Given the description of an element on the screen output the (x, y) to click on. 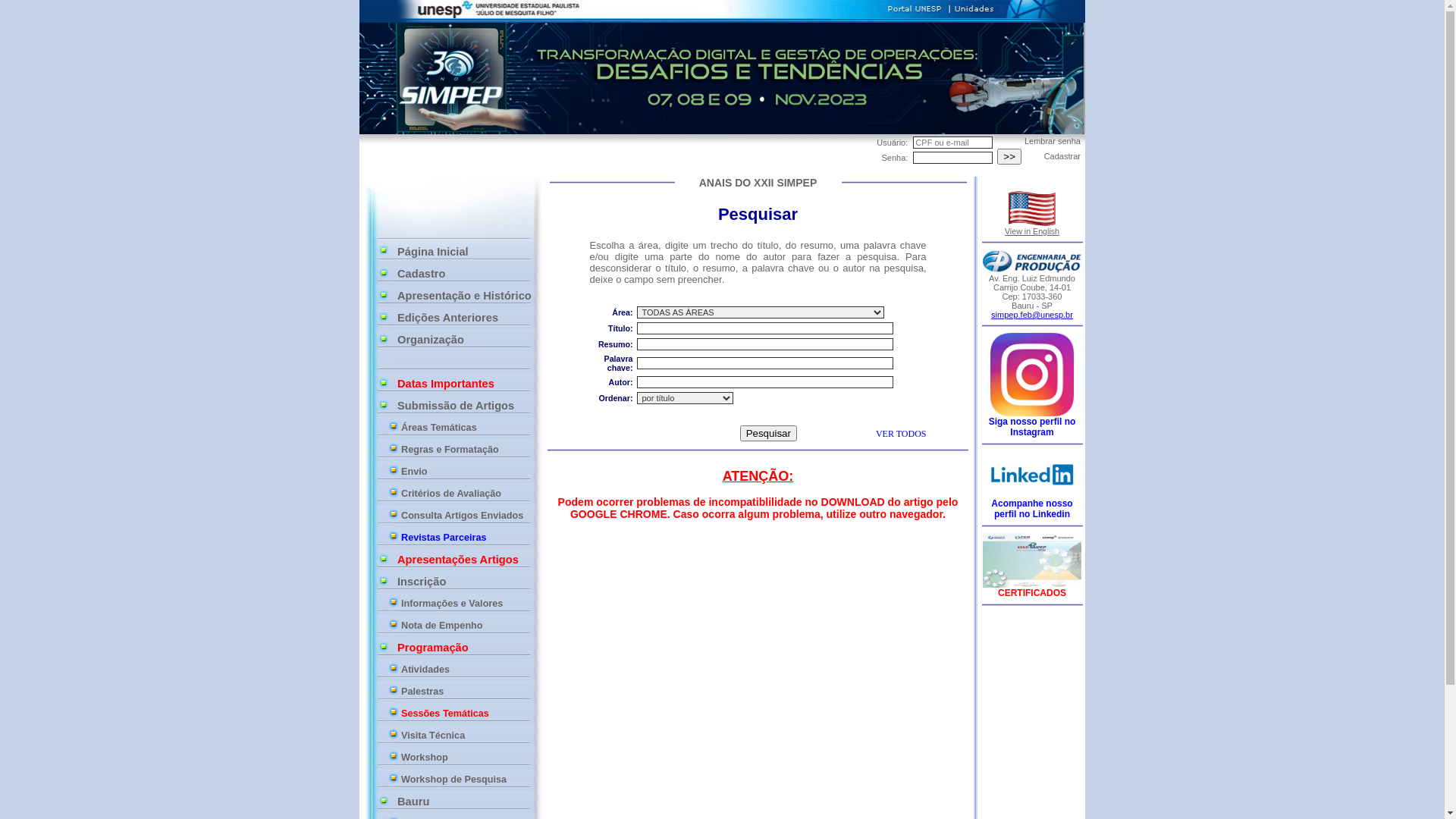
Atividades Element type: text (463, 669)
Palestras Element type: text (463, 691)
Datas Importantes Element type: text (465, 383)
Workshop Element type: text (463, 757)
Workshop de Pesquisa Element type: text (463, 779)
Revistas Parceiras Element type: text (463, 537)
Bauru Element type: text (465, 801)
Pesquisar Element type: text (768, 433)
Acompanhe nosso perfil no Linkedin Element type: text (1031, 504)
Envio Element type: text (463, 471)
View in English Element type: text (1031, 217)
Cadastro Element type: text (465, 273)
>> Element type: text (1009, 156)
Cadastrar Element type: text (1062, 155)
simpep.feb@unesp.br Element type: text (1032, 314)
Siga nosso perfil no Instagram Element type: text (1032, 422)
Nota de Empenho Element type: text (463, 625)
VER TODOS Element type: text (900, 433)
CERTIFICADOS Element type: text (1031, 592)
Consulta Artigos Enviados Element type: text (463, 515)
Lembrar senha Element type: text (1052, 140)
